Given the description of an element on the screen output the (x, y) to click on. 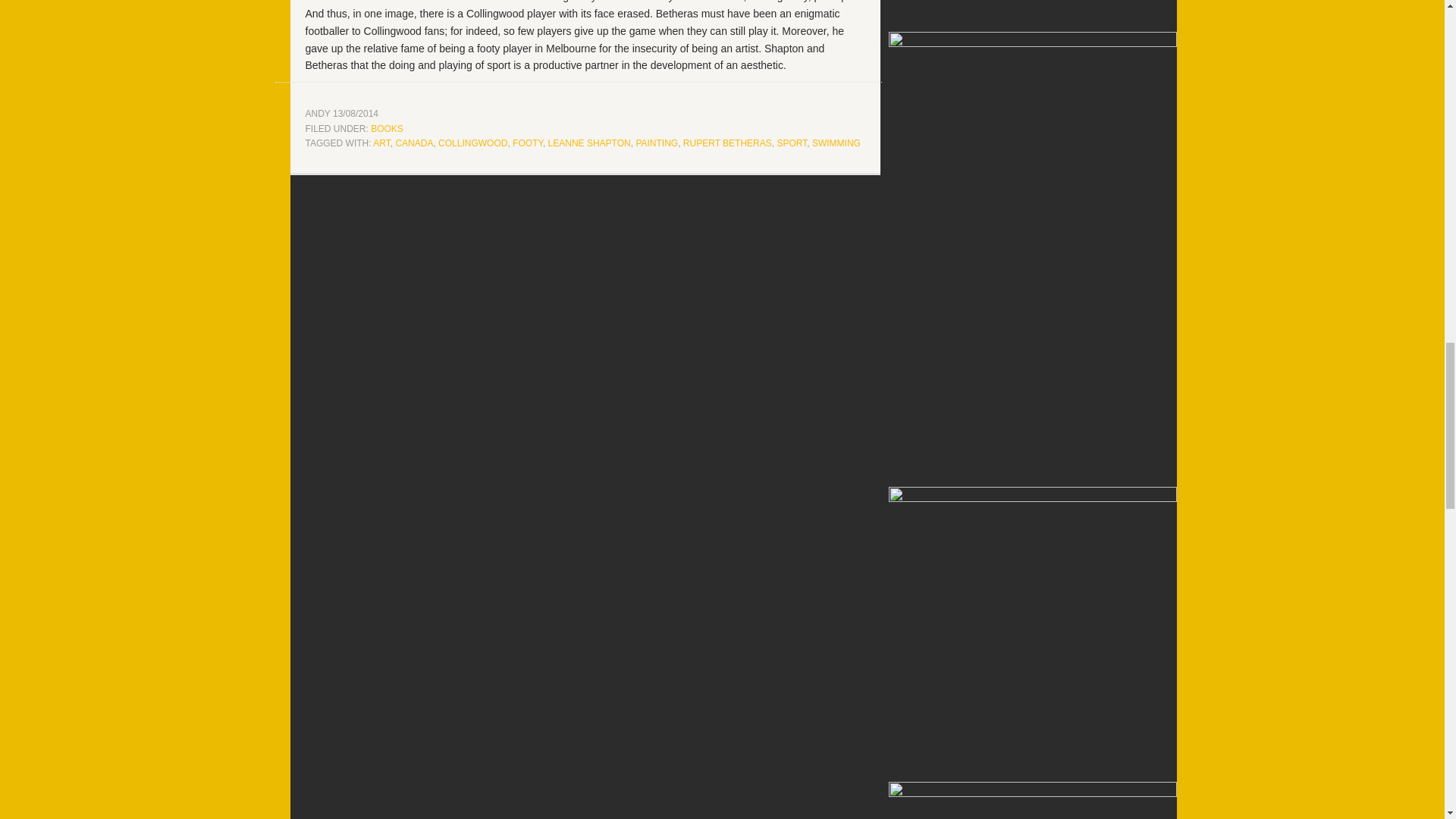
SPORT (791, 143)
PAINTING (656, 143)
COLLINGWOOD (472, 143)
ART (381, 143)
SWIMMING (836, 143)
FOOTY (527, 143)
BOOKS (387, 127)
RUPERT BETHERAS (726, 143)
CANADA (413, 143)
LEANNE SHAPTON (589, 143)
